Given the description of an element on the screen output the (x, y) to click on. 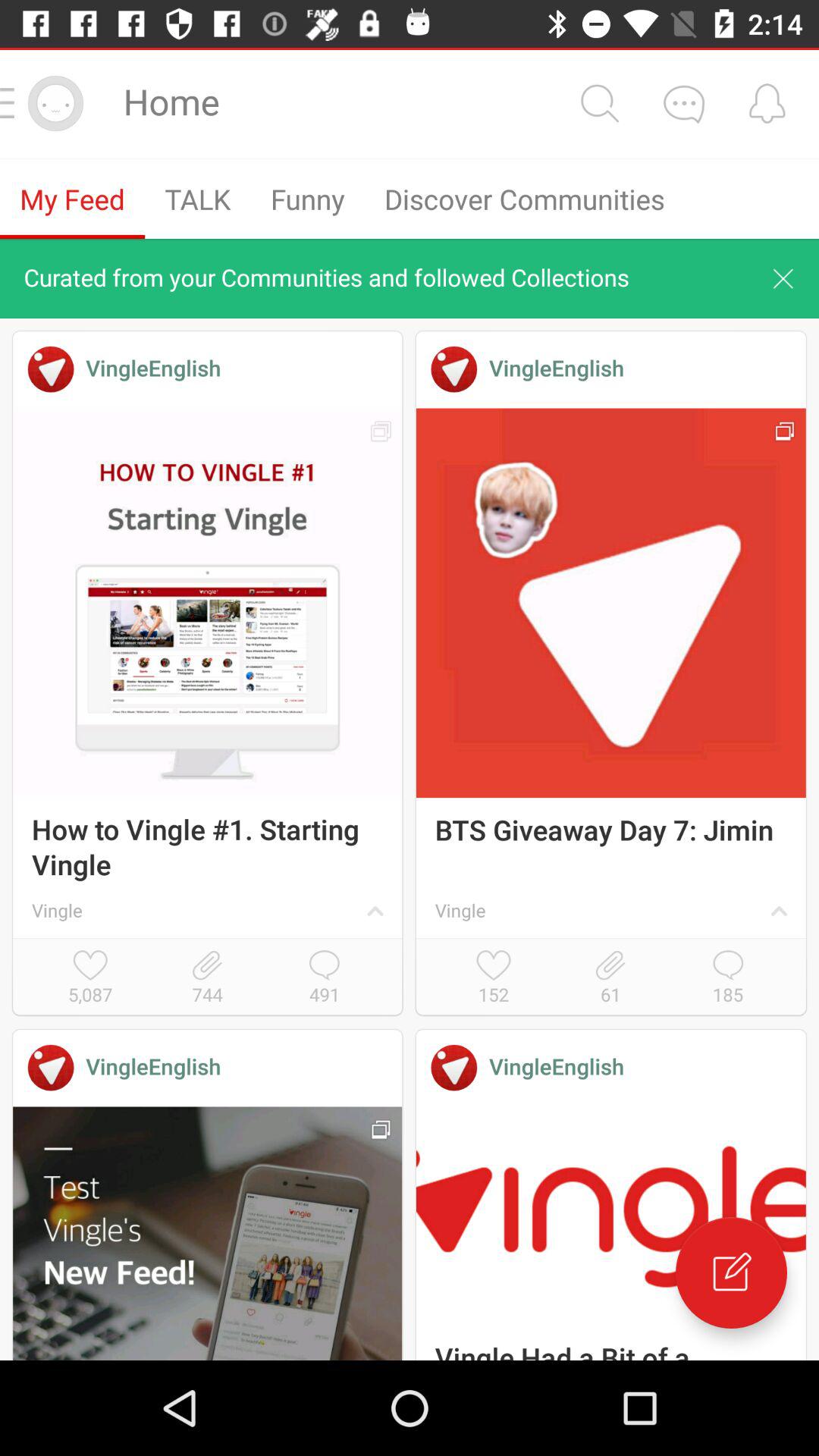
jump to the 152 (493, 978)
